Given the description of an element on the screen output the (x, y) to click on. 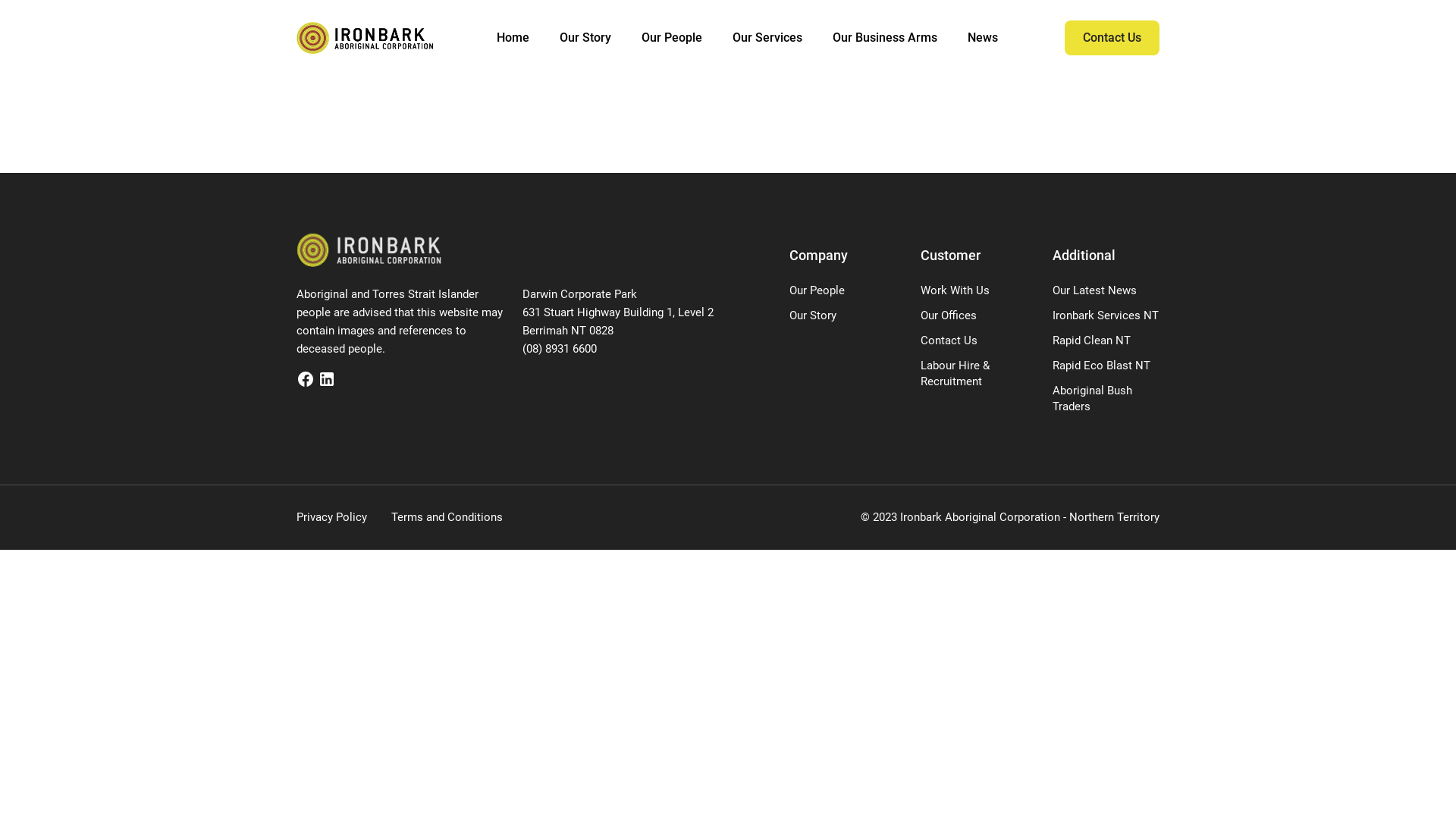
Our Offices Element type: text (948, 315)
Aboriginal Bush Traders Element type: text (1092, 398)
Work With Us Element type: text (954, 290)
Our Services Element type: text (767, 37)
Ironbark Services NT Element type: text (1105, 315)
Our Business Arms Element type: text (884, 37)
Privacy Policy Element type: text (331, 517)
Our Story Element type: text (585, 37)
Our Latest News Element type: text (1094, 290)
Terms and Conditions Element type: text (446, 517)
Our People Element type: text (671, 37)
Skip to main content Element type: text (3, 3)
Home Element type: text (512, 37)
Our People Element type: text (816, 290)
Our Story Element type: text (812, 315)
Rapid Clean NT Element type: text (1091, 340)
Contact Us Element type: text (1111, 37)
Labour Hire & Recruitment Element type: text (954, 373)
Contact Us Element type: text (948, 340)
Rapid Eco Blast NT Element type: text (1101, 365)
News Element type: text (982, 37)
